Given the description of an element on the screen output the (x, y) to click on. 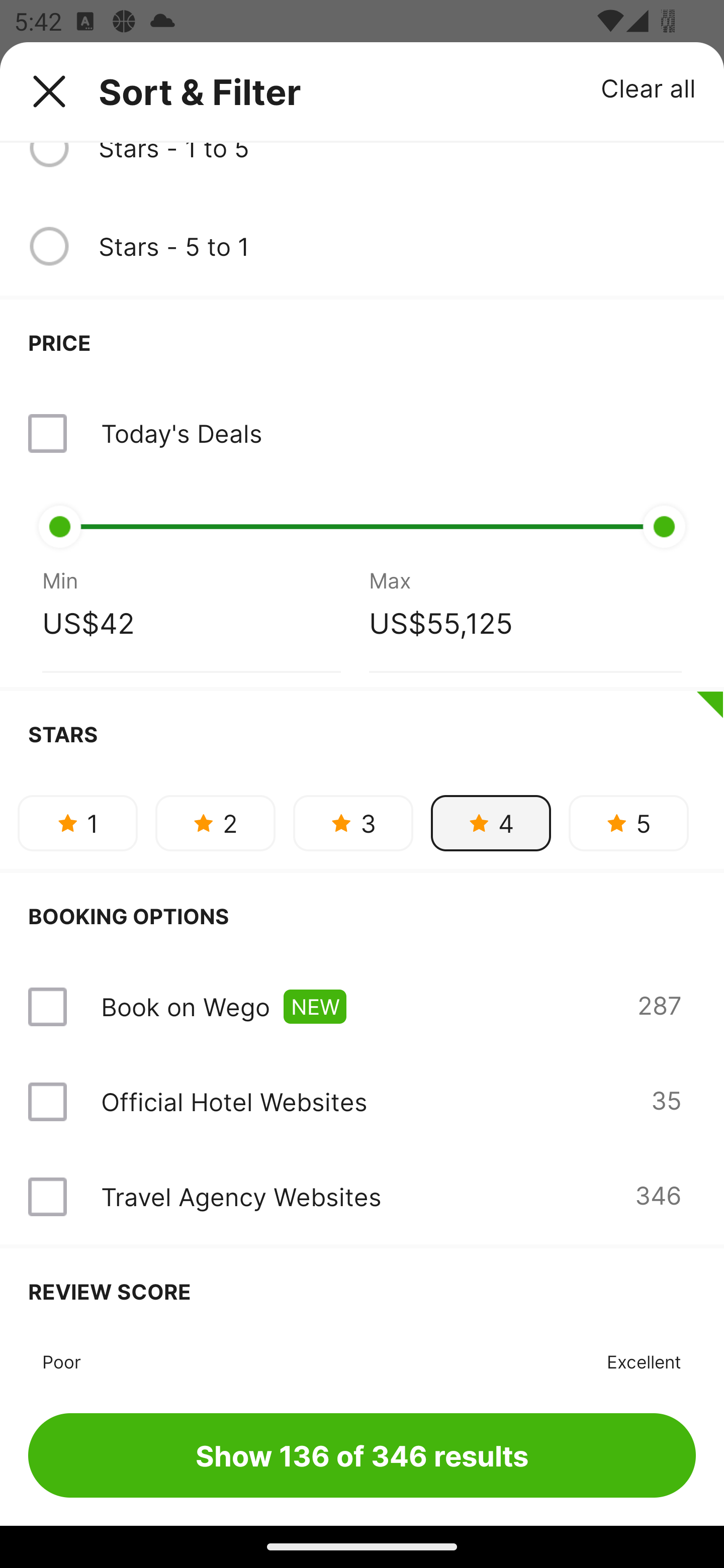
Clear all (648, 87)
Stars - 5 to 1 (396, 245)
Today's Deals (362, 433)
Today's Deals (181, 433)
1 (77, 822)
2 (214, 822)
3 (352, 822)
4 (491, 822)
5 (627, 822)
Book on Wego NEW 287 (362, 1006)
Book on Wego (184, 1006)
Official Hotel Websites 35 (362, 1101)
Official Hotel Websites (233, 1101)
Travel Agency Websites 346 (362, 1196)
Travel Agency Websites (240, 1196)
Poor Excellent (362, 1359)
Show 136 of 346 results (361, 1454)
